Given the description of an element on the screen output the (x, y) to click on. 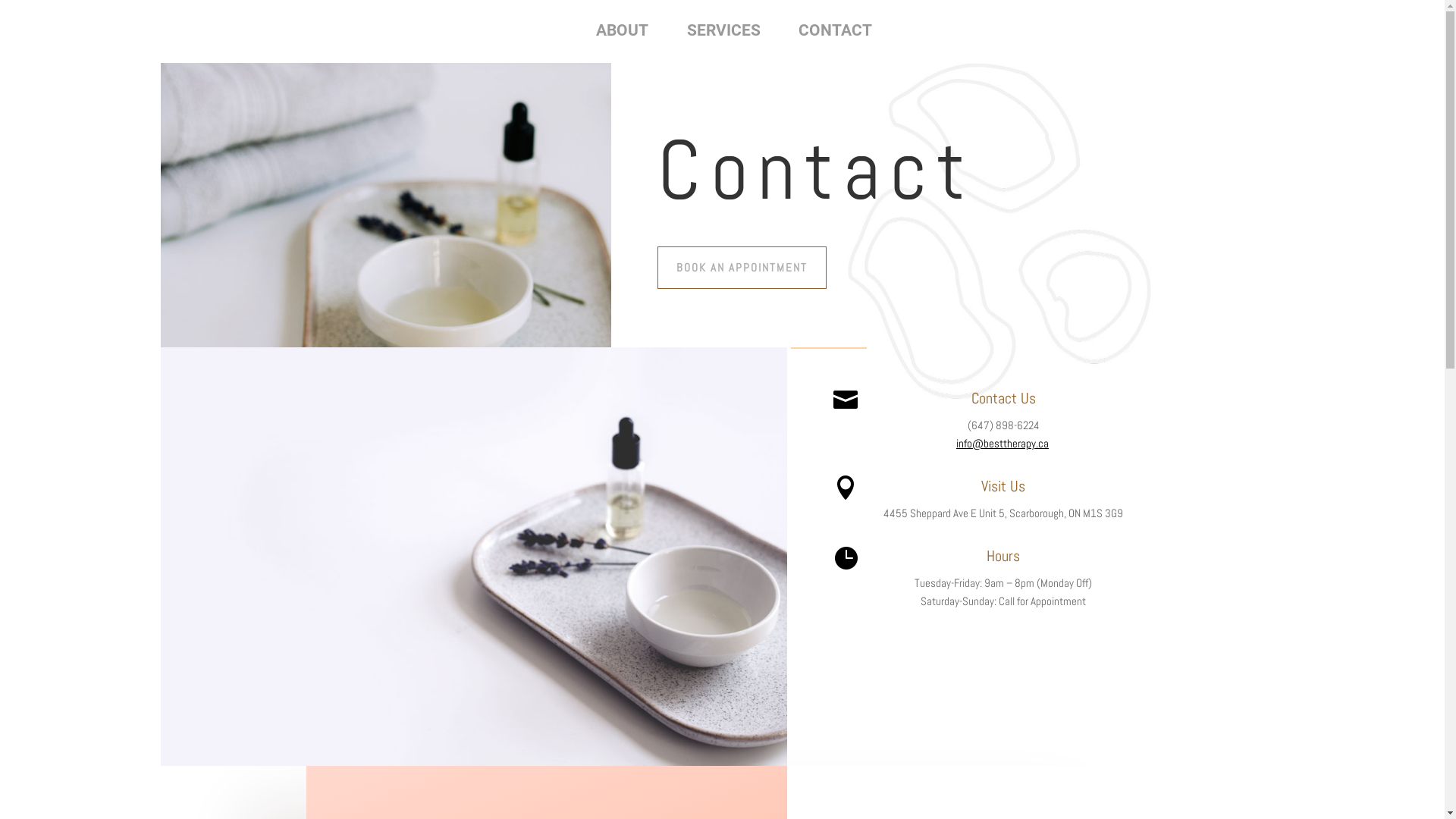
BOOK AN APPOINTMENT Element type: text (741, 267)
ABOUT Element type: text (622, 30)
info@besttherapy.ca Element type: text (1002, 443)
SERVICES Element type: text (723, 30)
CONTACT Element type: text (835, 30)
